Given the description of an element on the screen output the (x, y) to click on. 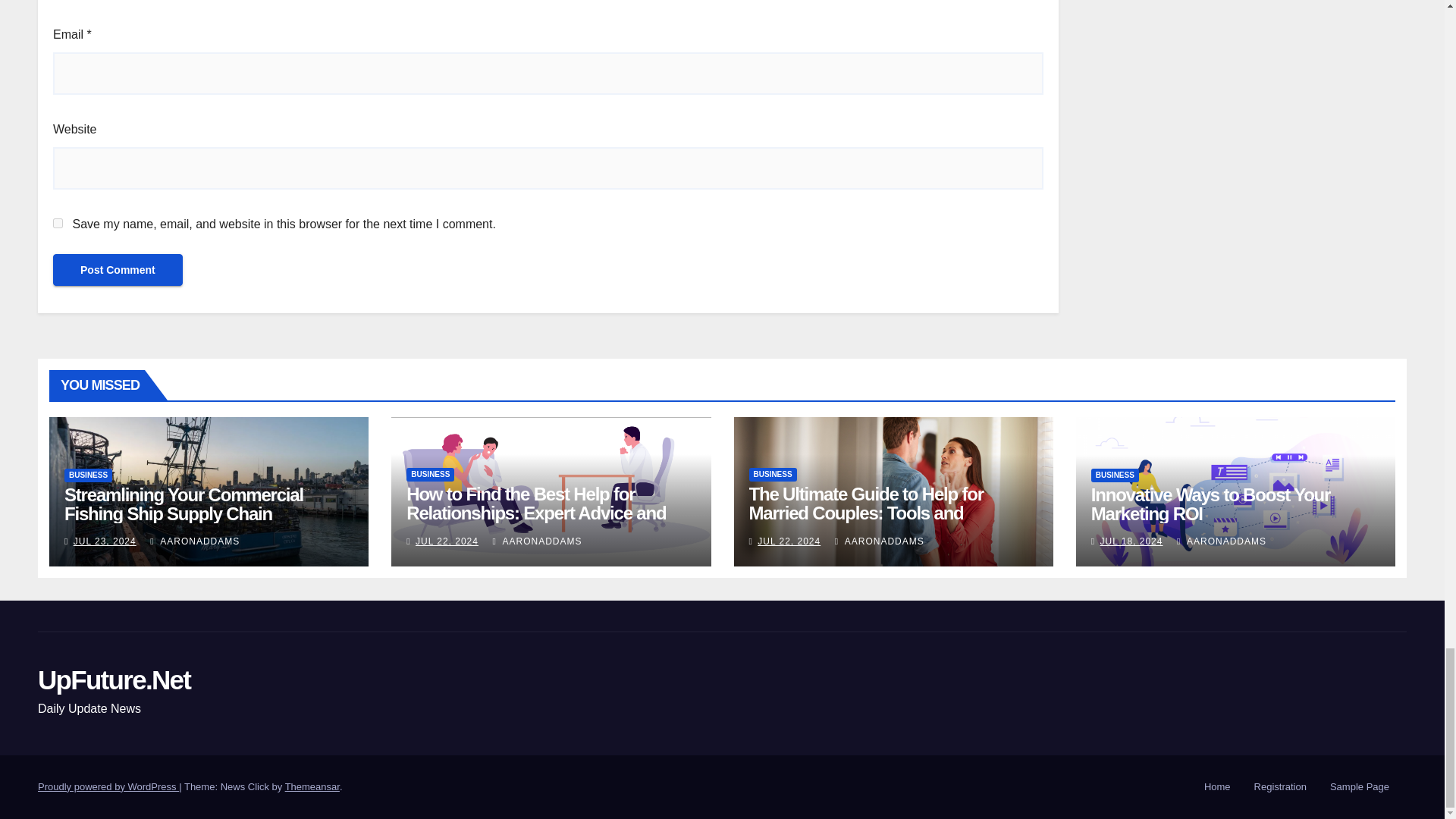
Post Comment (117, 269)
yes (57, 223)
Permalink to: Innovative Ways to Boost Your Marketing ROI (1210, 504)
